Given the description of an element on the screen output the (x, y) to click on. 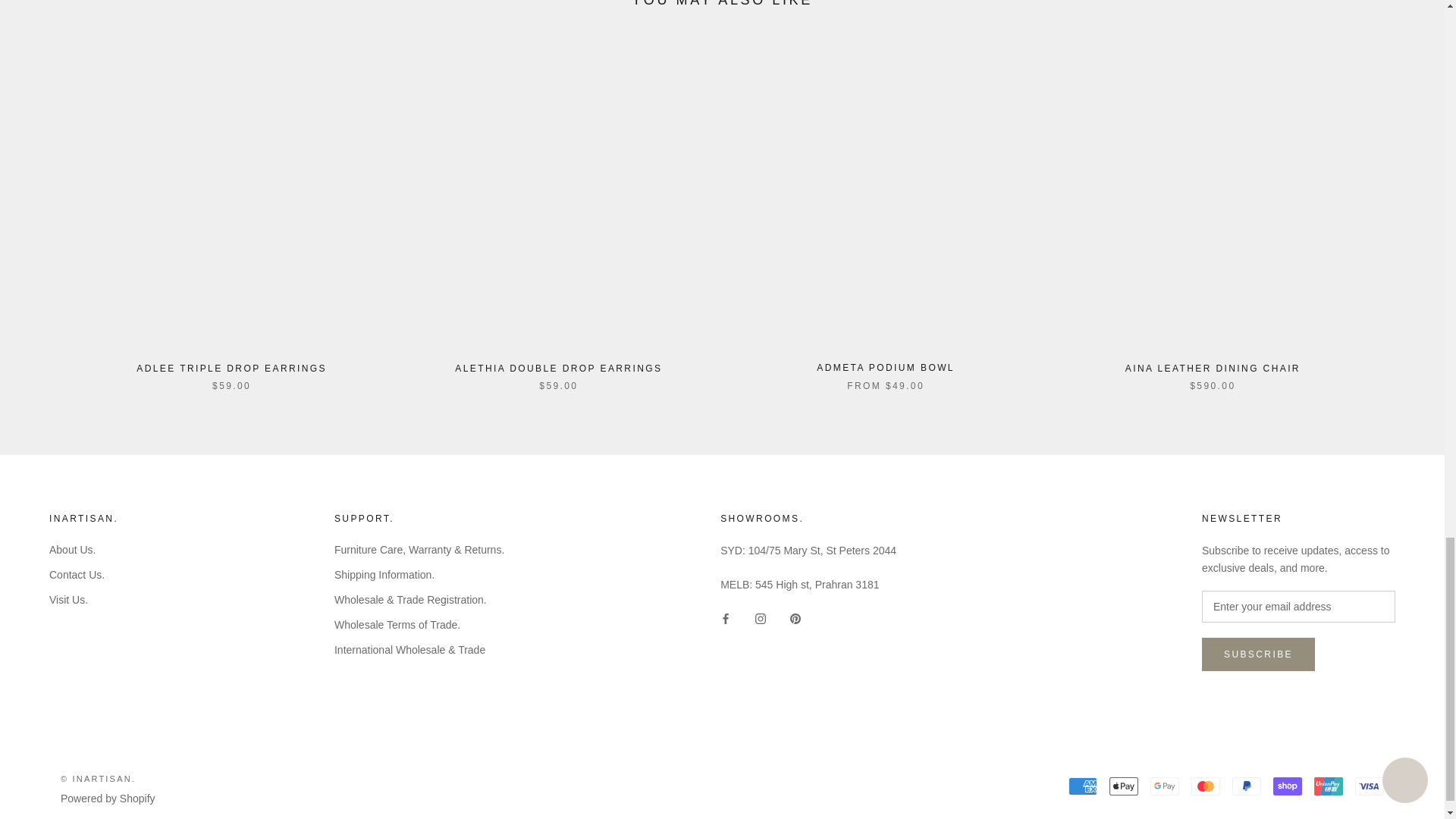
American Express (1082, 786)
Apple Pay (1123, 786)
Mastercard (1205, 786)
Union Pay (1328, 786)
Visa (1369, 786)
PayPal (1245, 786)
Shop Pay (1286, 786)
Google Pay (1164, 786)
